Given the description of an element on the screen output the (x, y) to click on. 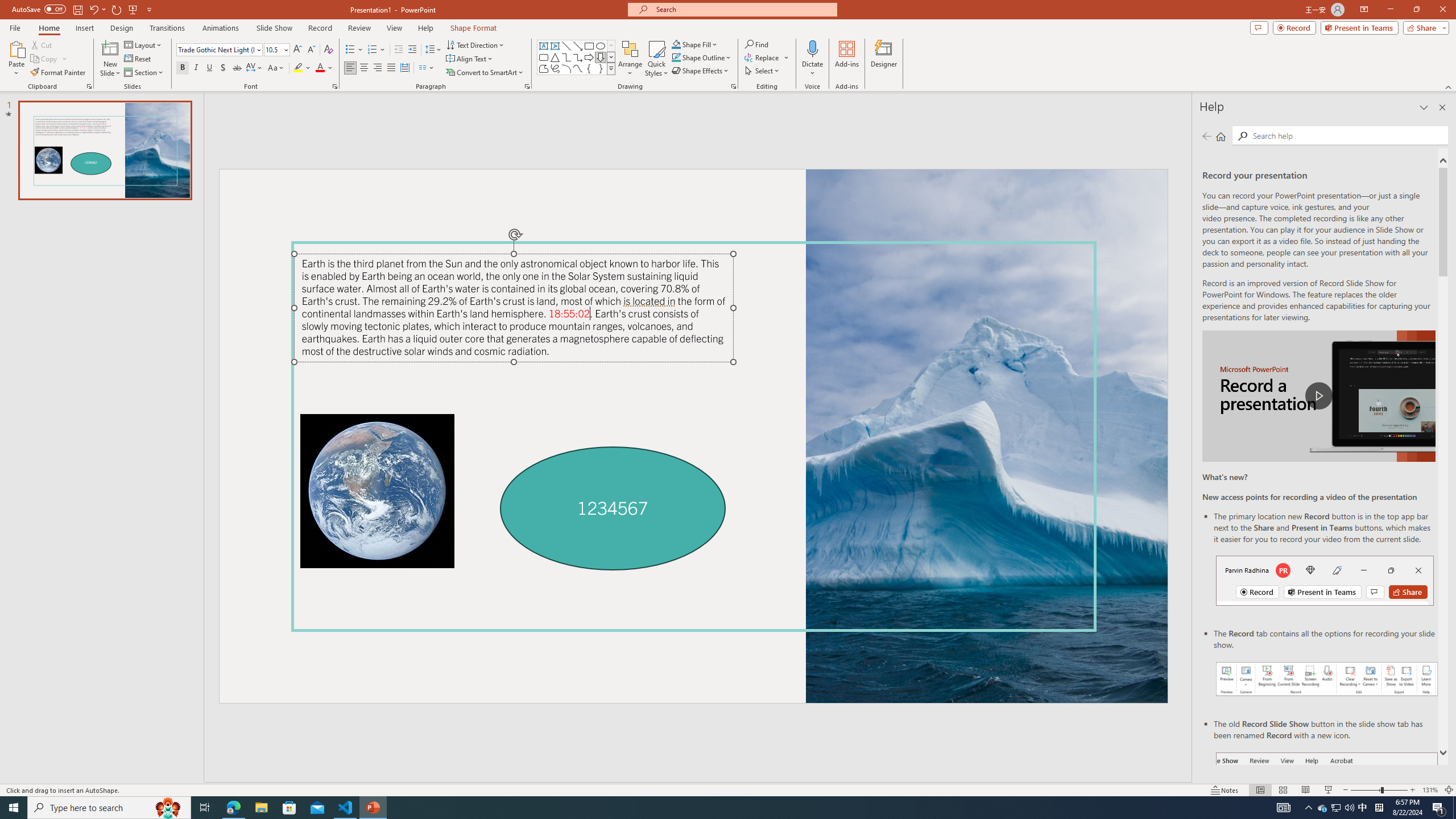
Arrange (630, 58)
Vertical Text Box (554, 45)
Arrow: Right (589, 57)
Class: MsoCommandBar (728, 789)
Format Painter (58, 72)
Line Arrow (577, 45)
Line Spacing (433, 49)
Columns (426, 67)
Shadow (223, 67)
Record button in top bar (1324, 580)
